Given the description of an element on the screen output the (x, y) to click on. 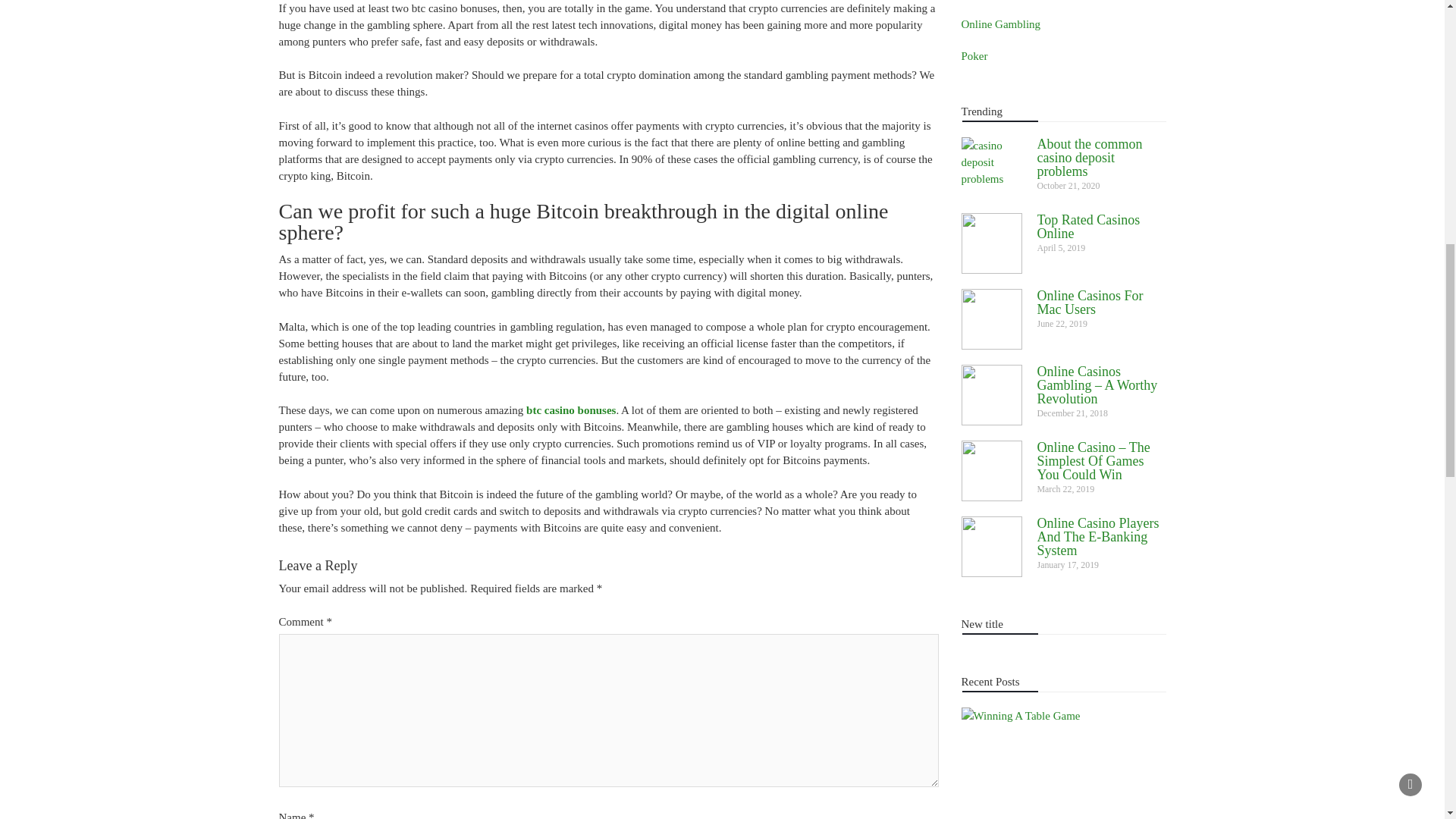
Online Casinos (995, 0)
Poker (974, 55)
btc casino bonuses (570, 410)
Online Gambling (1000, 23)
